Given the description of an element on the screen output the (x, y) to click on. 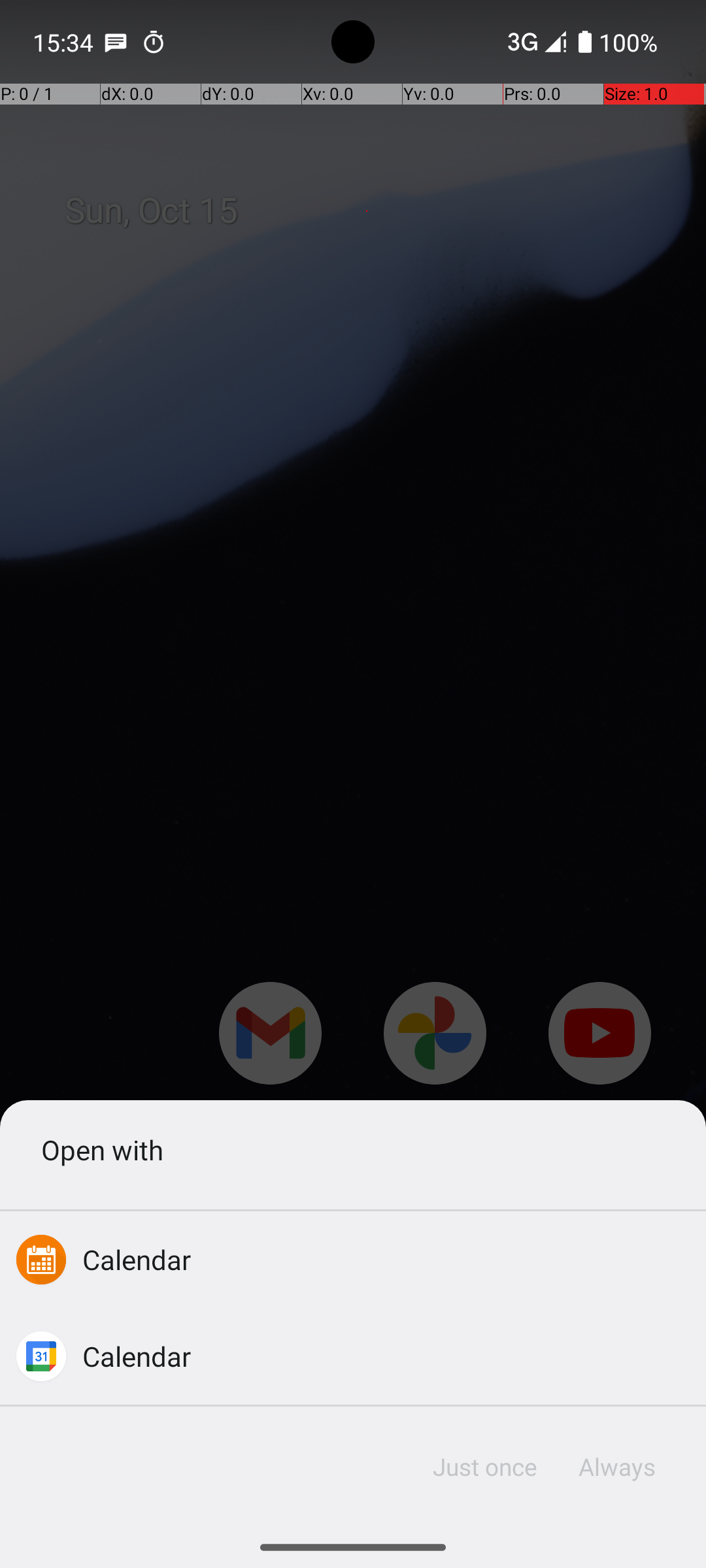
Open with Element type: android.widget.TextView (352, 1149)
Just once Element type: android.widget.Button (484, 1466)
Always Element type: android.widget.Button (616, 1466)
